Given the description of an element on the screen output the (x, y) to click on. 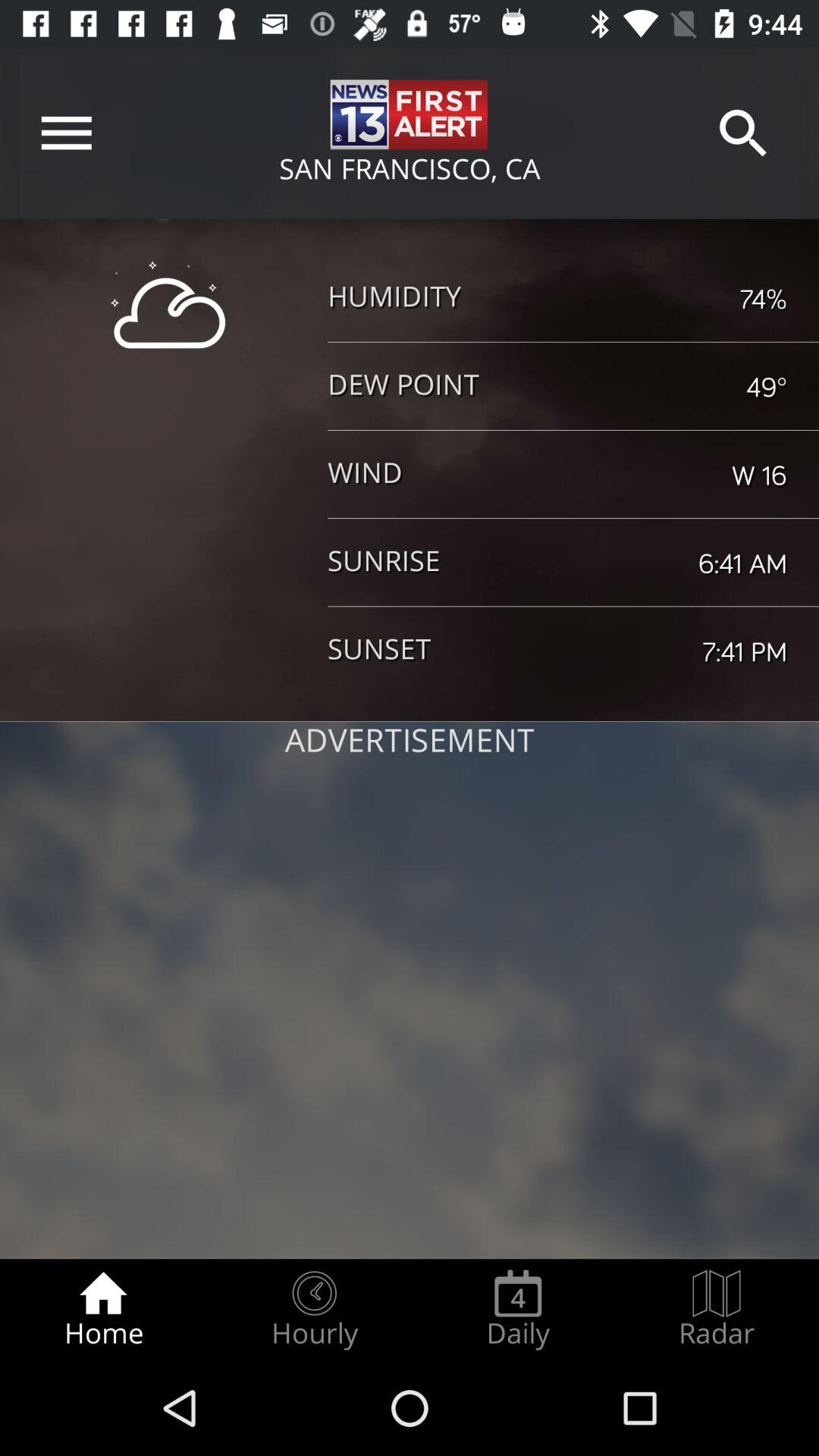
tap the home at the bottom left corner (103, 1309)
